Given the description of an element on the screen output the (x, y) to click on. 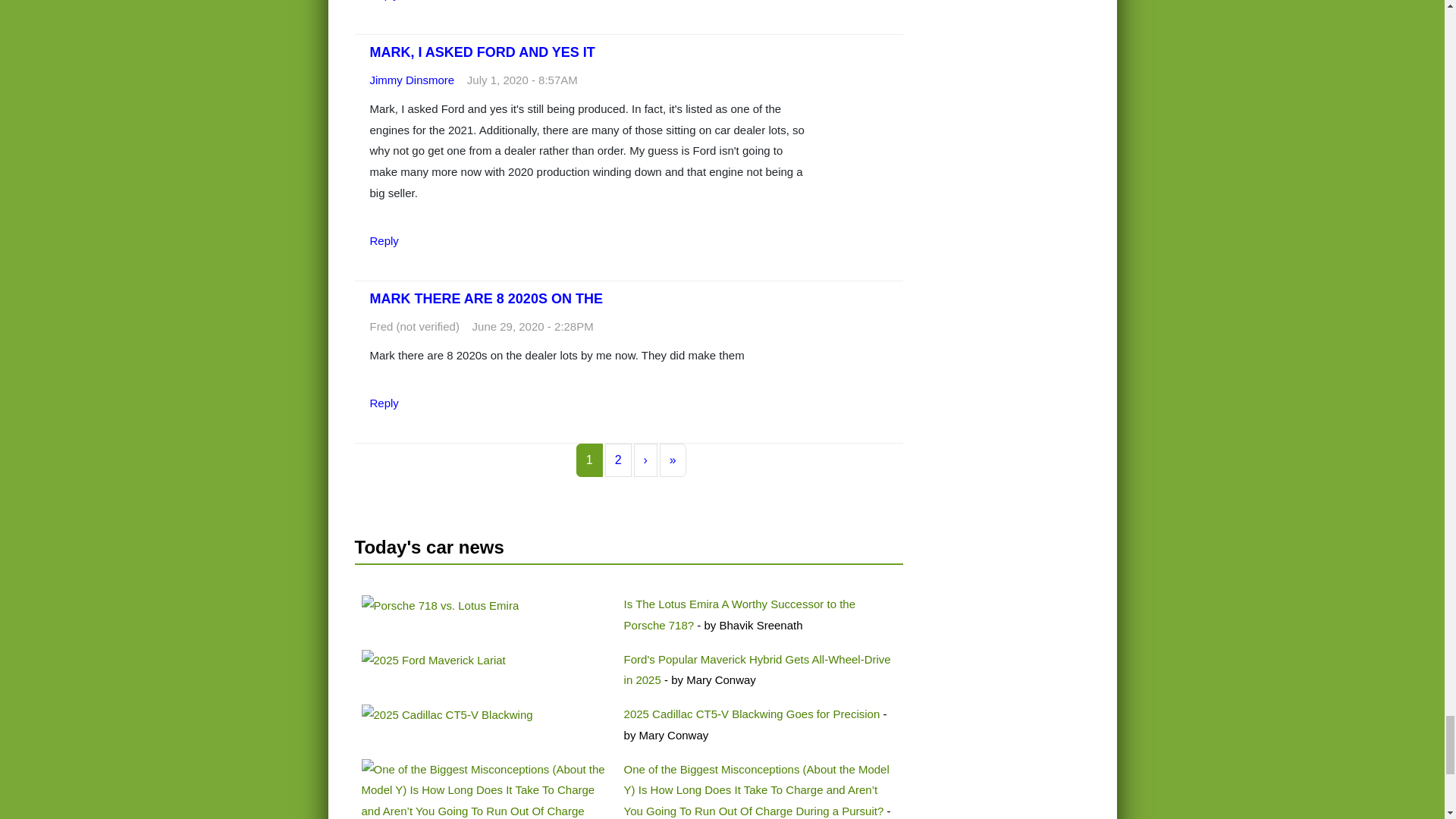
View user profile. (411, 79)
